Given the description of an element on the screen output the (x, y) to click on. 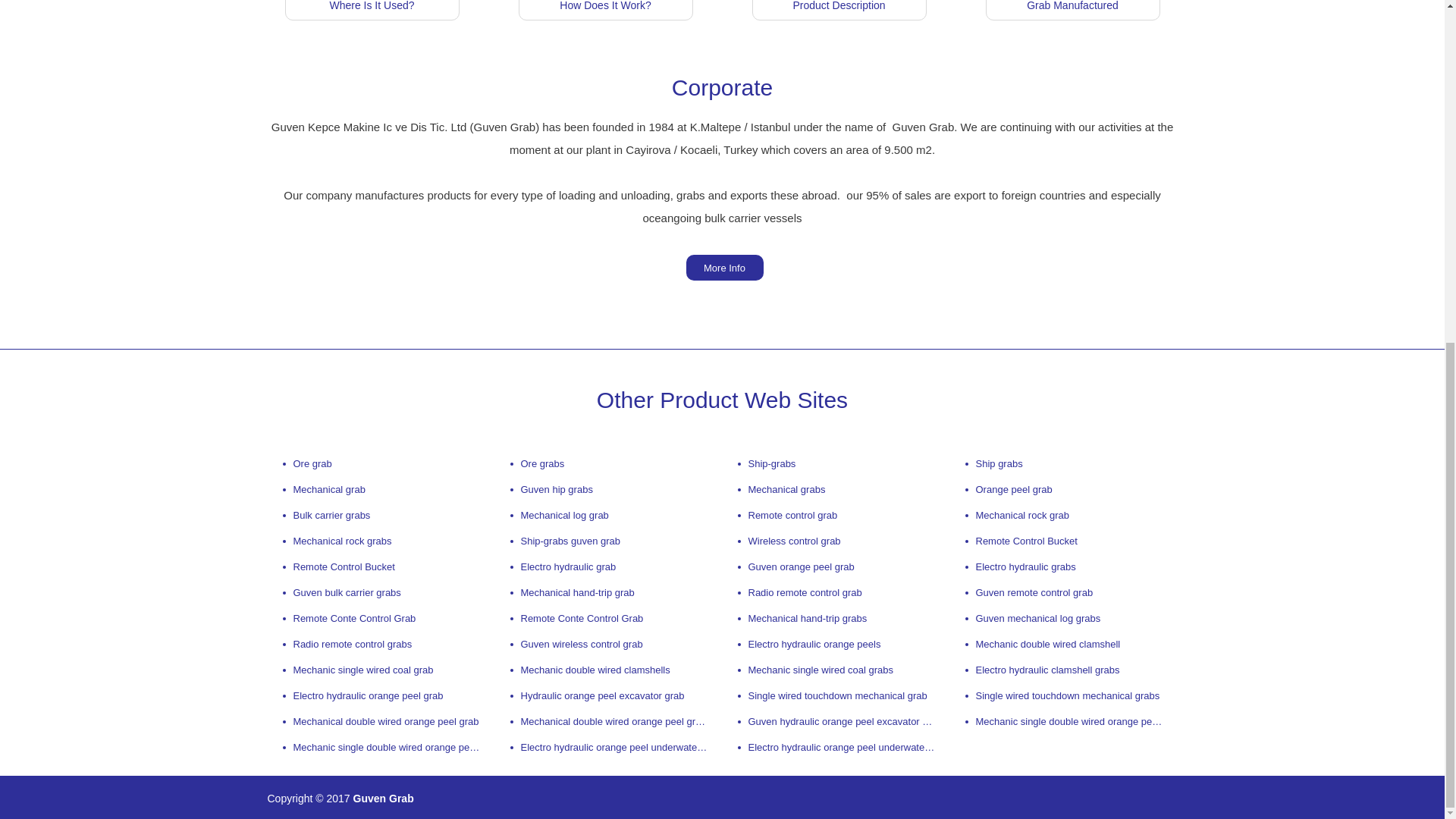
Mechanical hand-trip grab (608, 592)
Remote Control Bucket (380, 566)
Radio remote control grab (835, 592)
Ore grabs (608, 463)
Guven orange peel grab (835, 566)
Remote control grab (835, 515)
Mechanical rock grab (1062, 515)
Mechanical grab (380, 489)
Orange peel grab (1062, 489)
Bulk carrier grabs (380, 515)
Wireless control grab (835, 541)
Where Is It Used? (371, 10)
Mechanical grabs (835, 489)
Electro hydraulic grabs (1062, 566)
Guven hip grabs (608, 489)
